Given the description of an element on the screen output the (x, y) to click on. 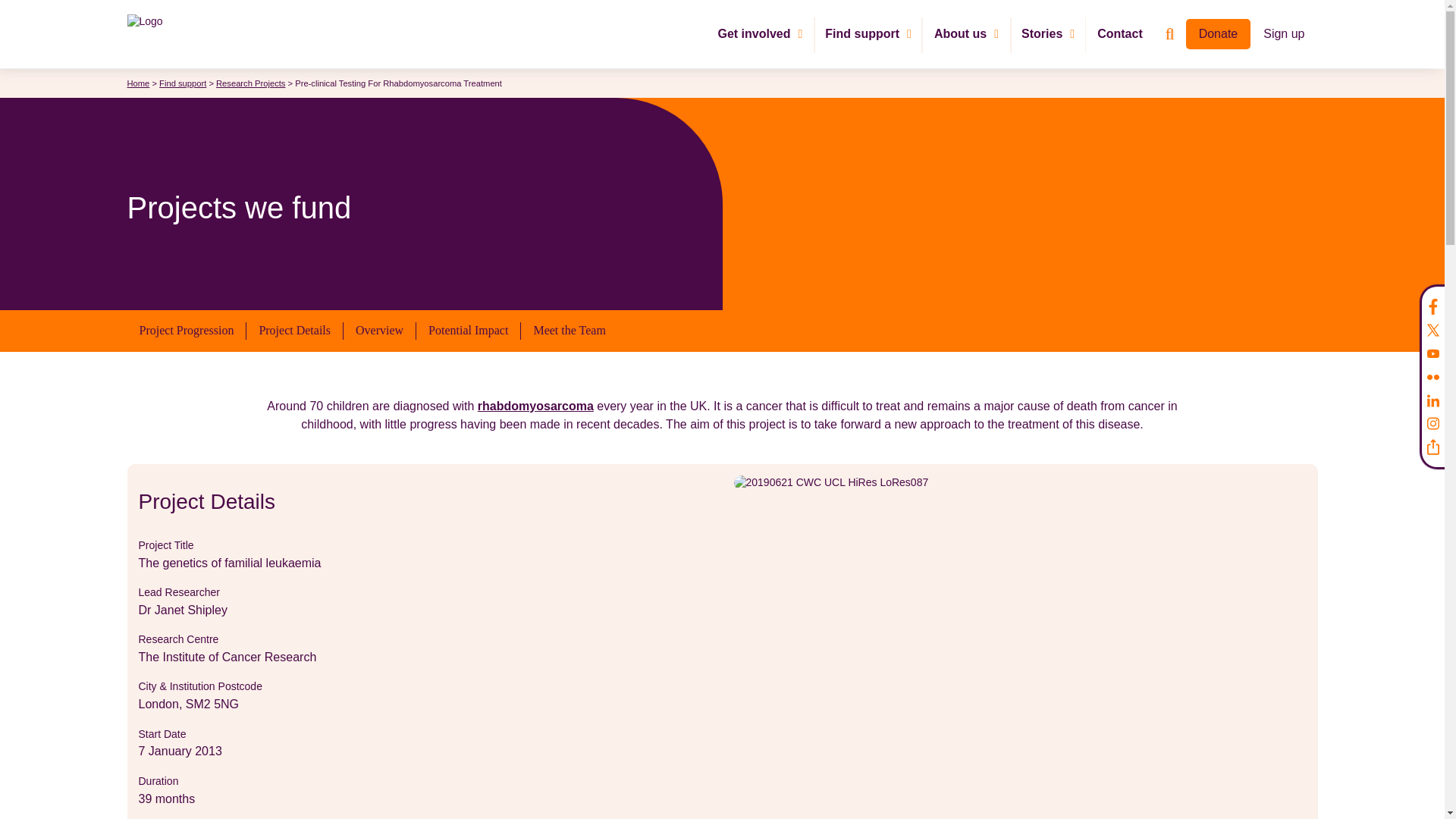
About us (966, 33)
Get involved (759, 33)
Children with Cancer UK (159, 34)
Find support (868, 33)
Stories (1048, 33)
